Given the description of an element on the screen output the (x, y) to click on. 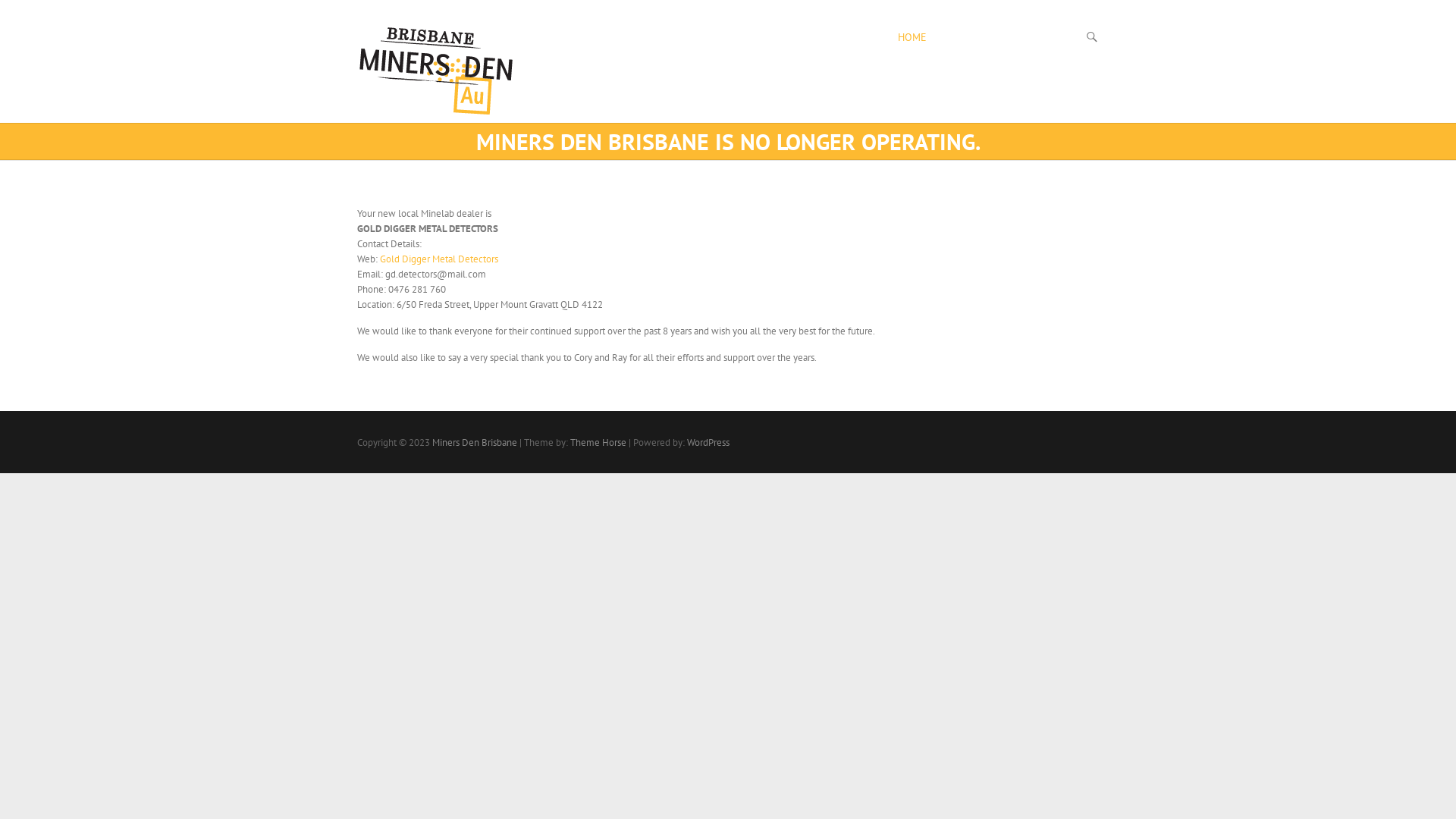
WordPress Element type: text (708, 442)
Miners Den Brisbane Element type: text (474, 442)
Gold Digger Metal Detectors Element type: text (438, 258)
Miners Den Brisbane Element type: hover (436, 69)
HOME Element type: text (911, 37)
Theme Horse Element type: text (598, 442)
